Given the description of an element on the screen output the (x, y) to click on. 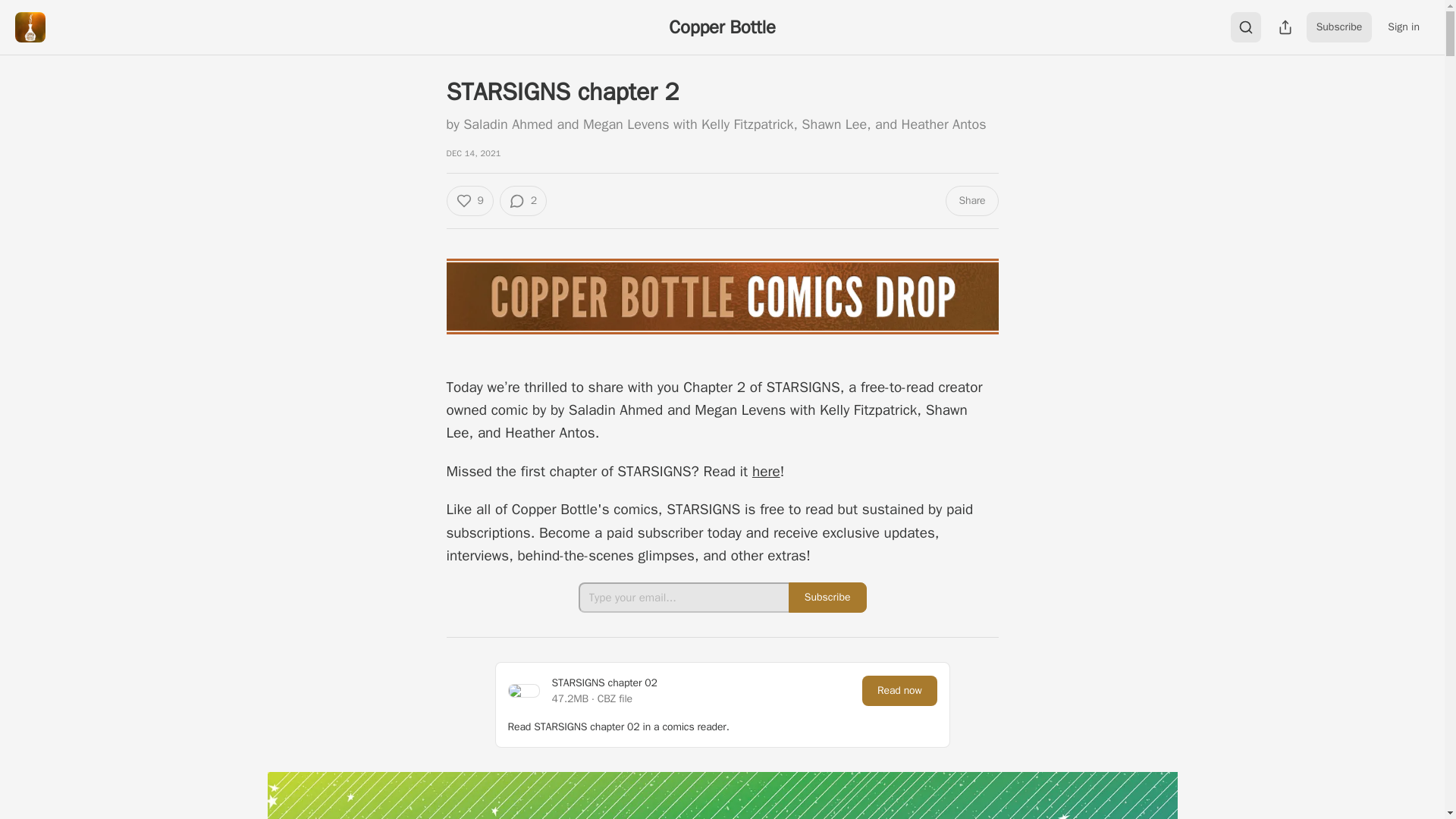
9 (469, 200)
here (766, 527)
Subscribe (827, 654)
2 (523, 200)
Subscribe (1339, 27)
Share (970, 200)
Sign in (1403, 27)
Copper Bottle (721, 26)
Read now (898, 747)
